Given the description of an element on the screen output the (x, y) to click on. 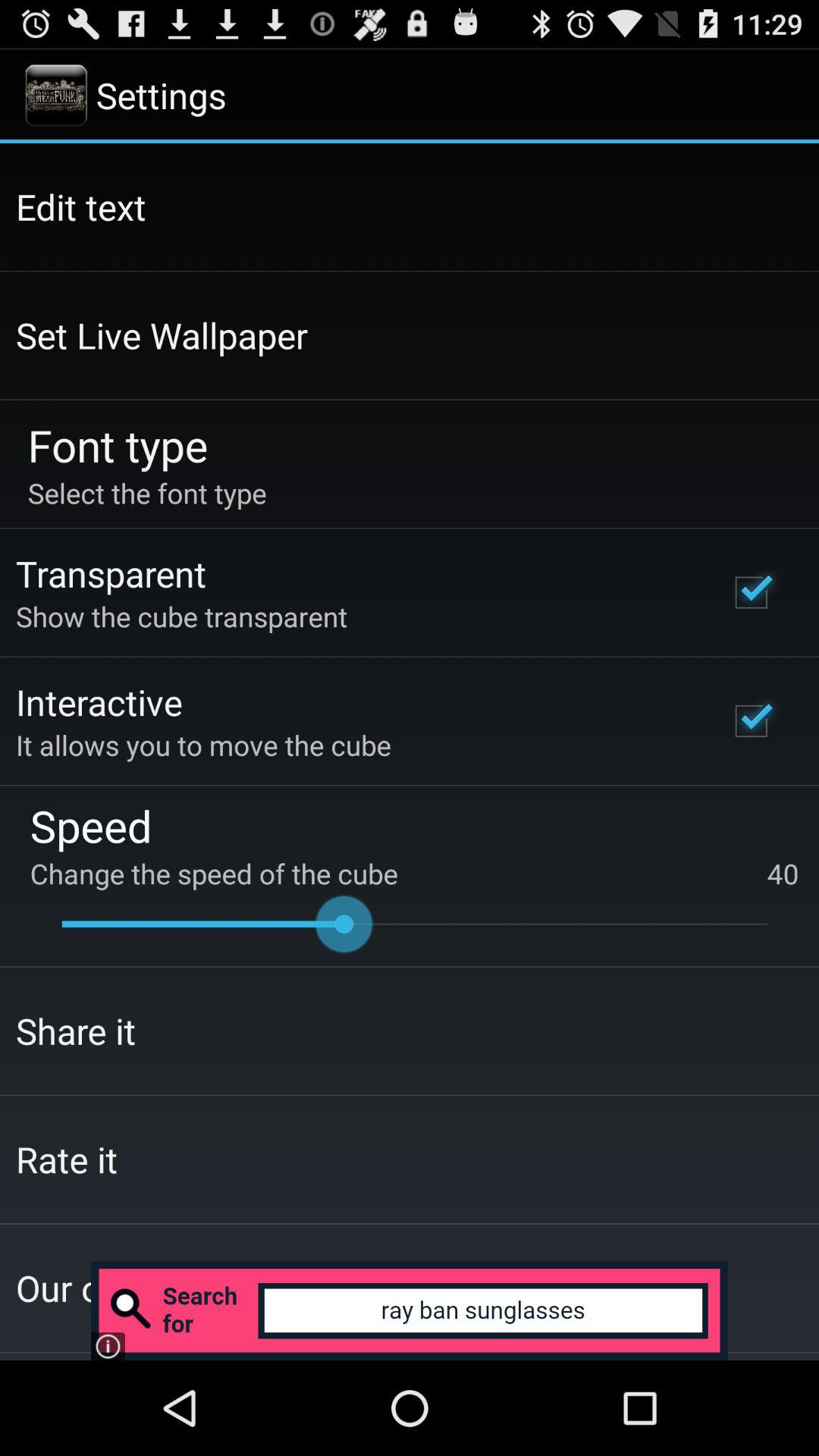
turn on the icon below share it icon (66, 1159)
